Given the description of an element on the screen output the (x, y) to click on. 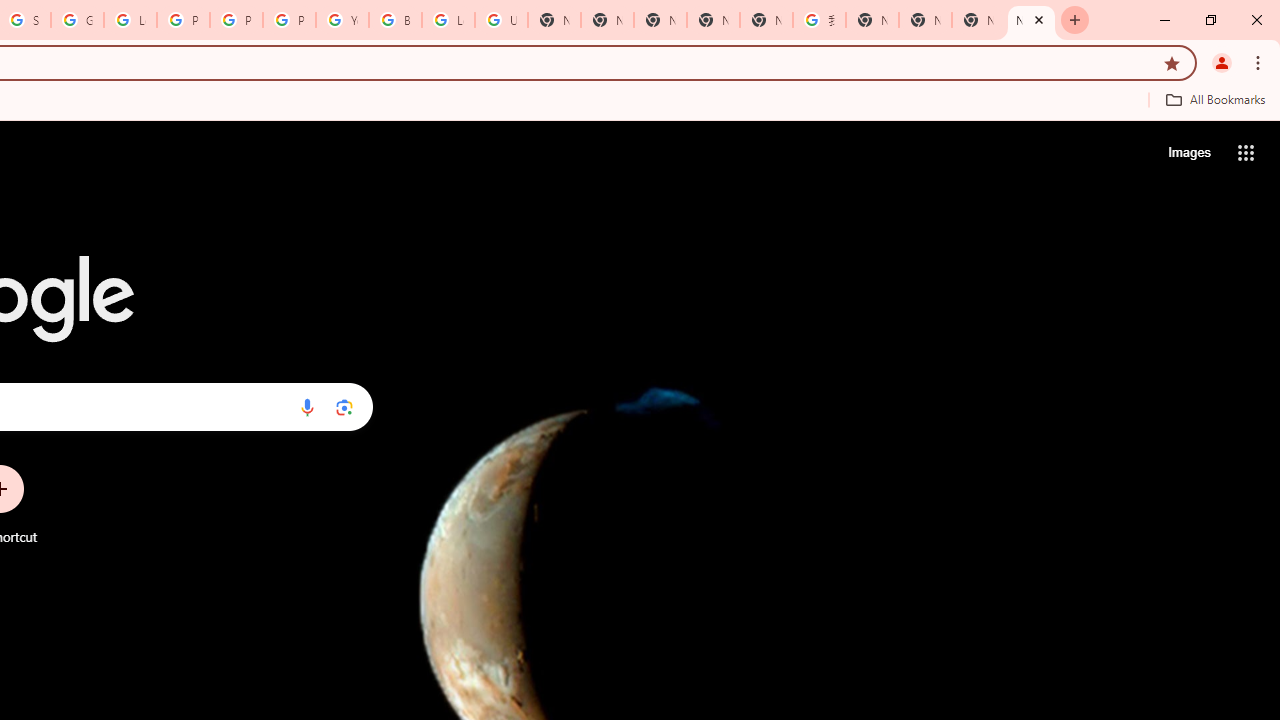
Privacy Help Center - Policies Help (183, 20)
New Tab (660, 20)
Privacy Help Center - Policies Help (235, 20)
New Tab (925, 20)
